Given the description of an element on the screen output the (x, y) to click on. 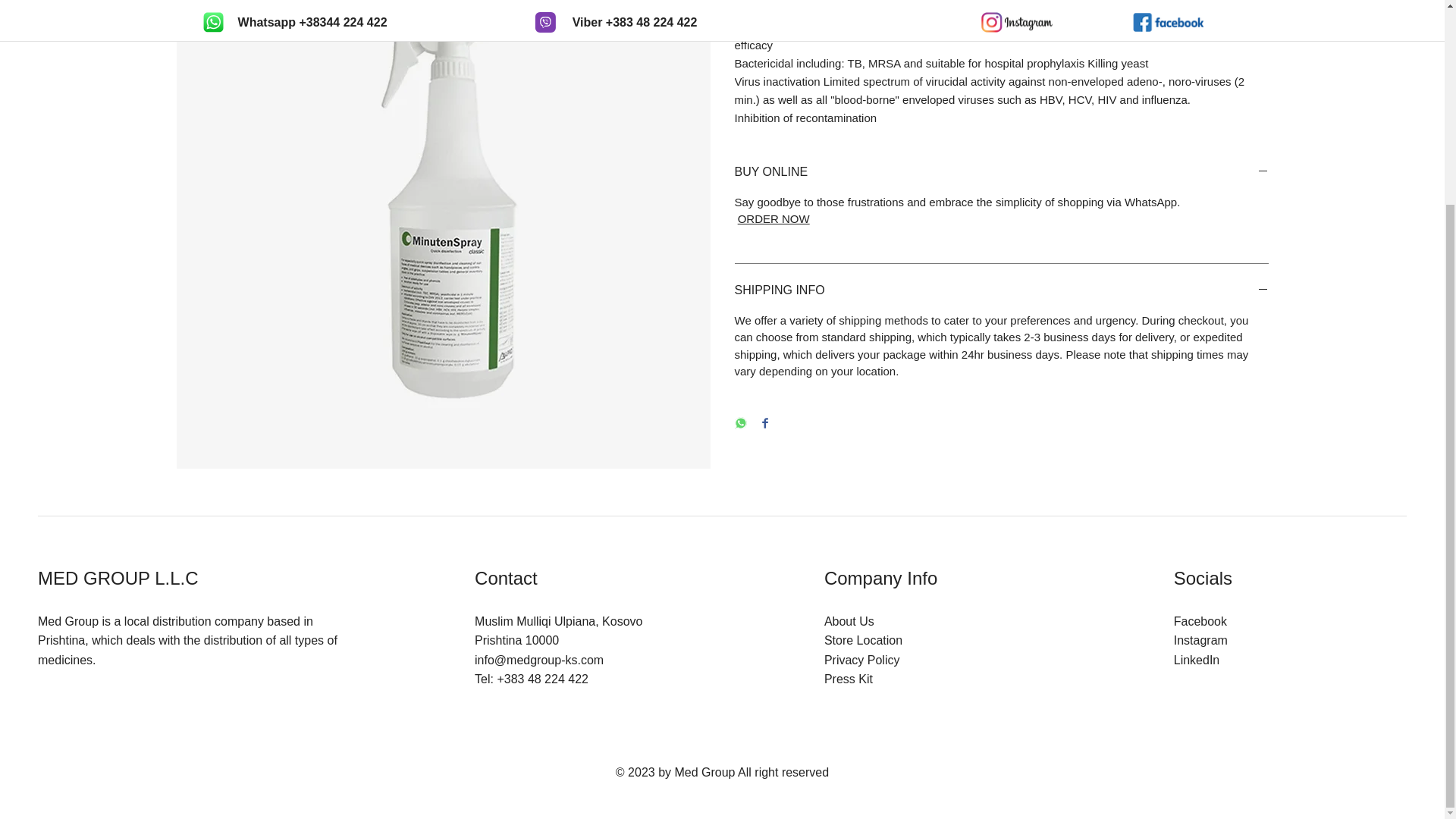
Muslim Mulliqi Ulpiana, Kosovo (558, 621)
SHIPPING INFO (1000, 289)
BUY ONLINE (1000, 171)
ORDER NOW (773, 218)
